Given the description of an element on the screen output the (x, y) to click on. 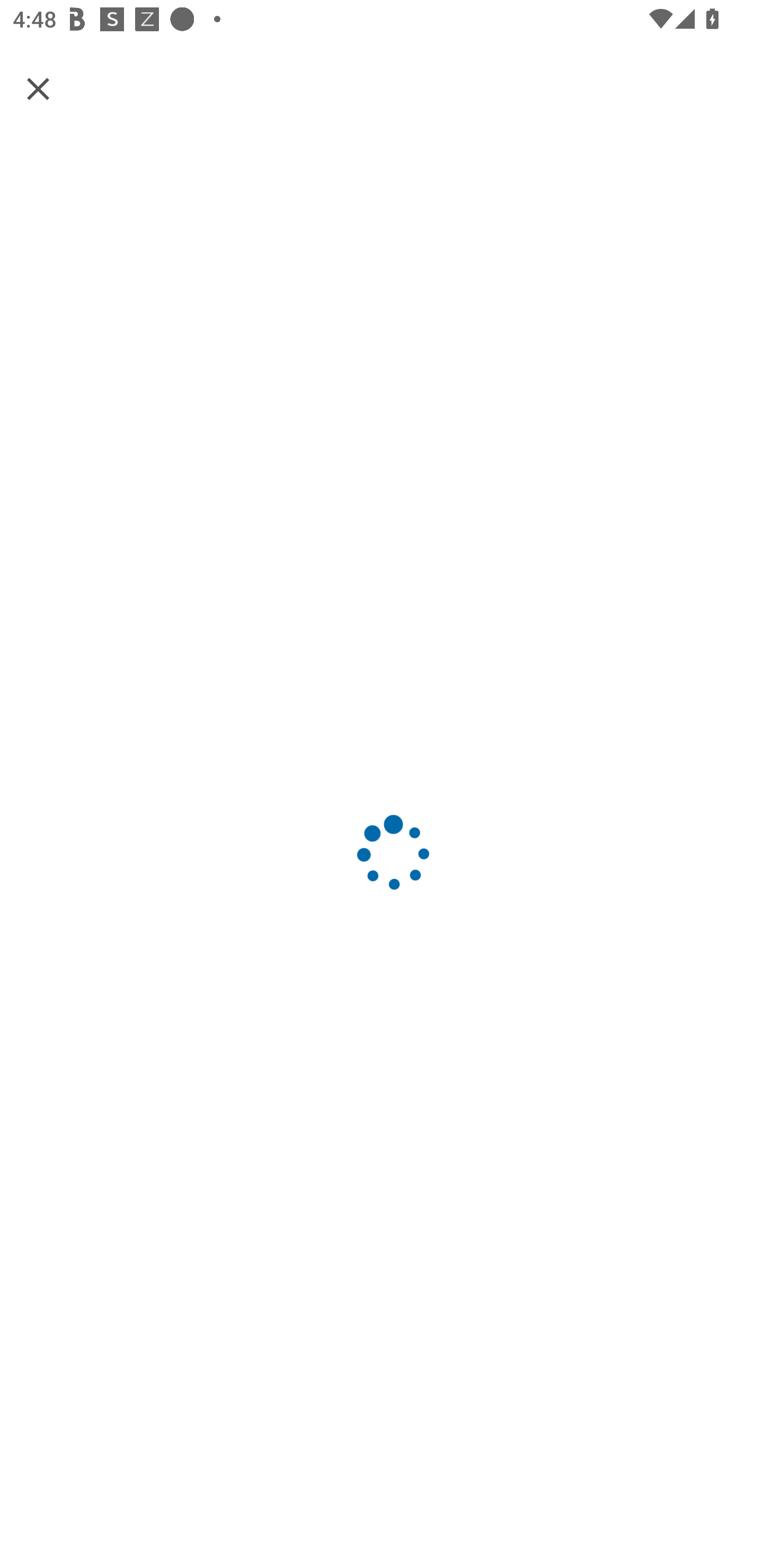
Close (38, 88)
